Given the description of an element on the screen output the (x, y) to click on. 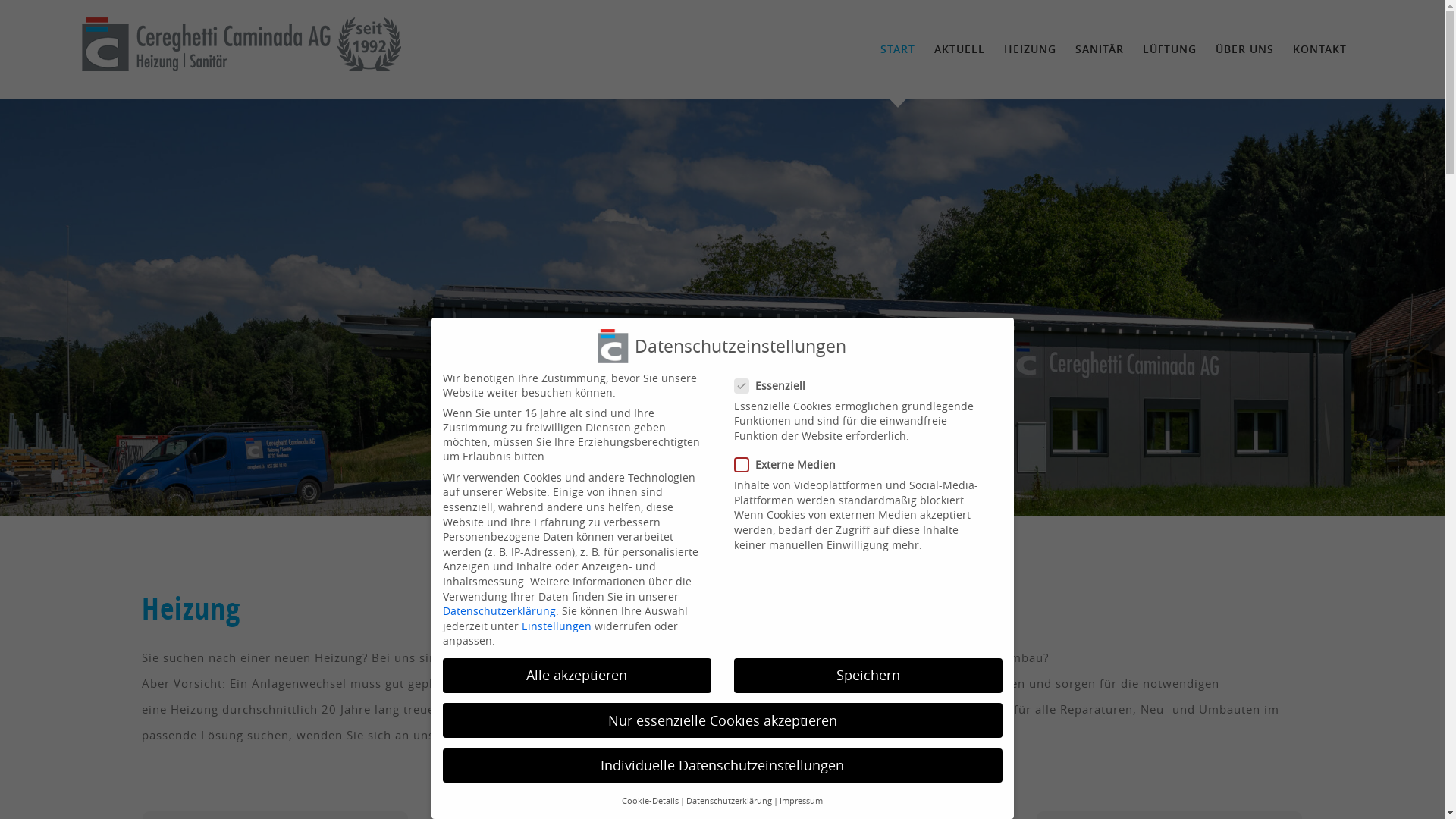
AKTUELL Element type: text (959, 49)
KONTAKT Element type: text (1319, 49)
START Element type: text (897, 49)
Impressum Element type: text (800, 800)
Speichern Element type: text (868, 675)
Cookie-Details Element type: text (649, 800)
1 Element type: text (704, 478)
Alle akzeptieren Element type: text (576, 675)
HEIZUNG Element type: text (1030, 49)
Individuelle Datenschutzeinstellungen Element type: text (722, 765)
3 Element type: text (739, 478)
Nur essenzielle Cookies akzeptieren Element type: text (722, 719)
2 Element type: text (722, 478)
Einstellungen Element type: text (556, 625)
